Given the description of an element on the screen output the (x, y) to click on. 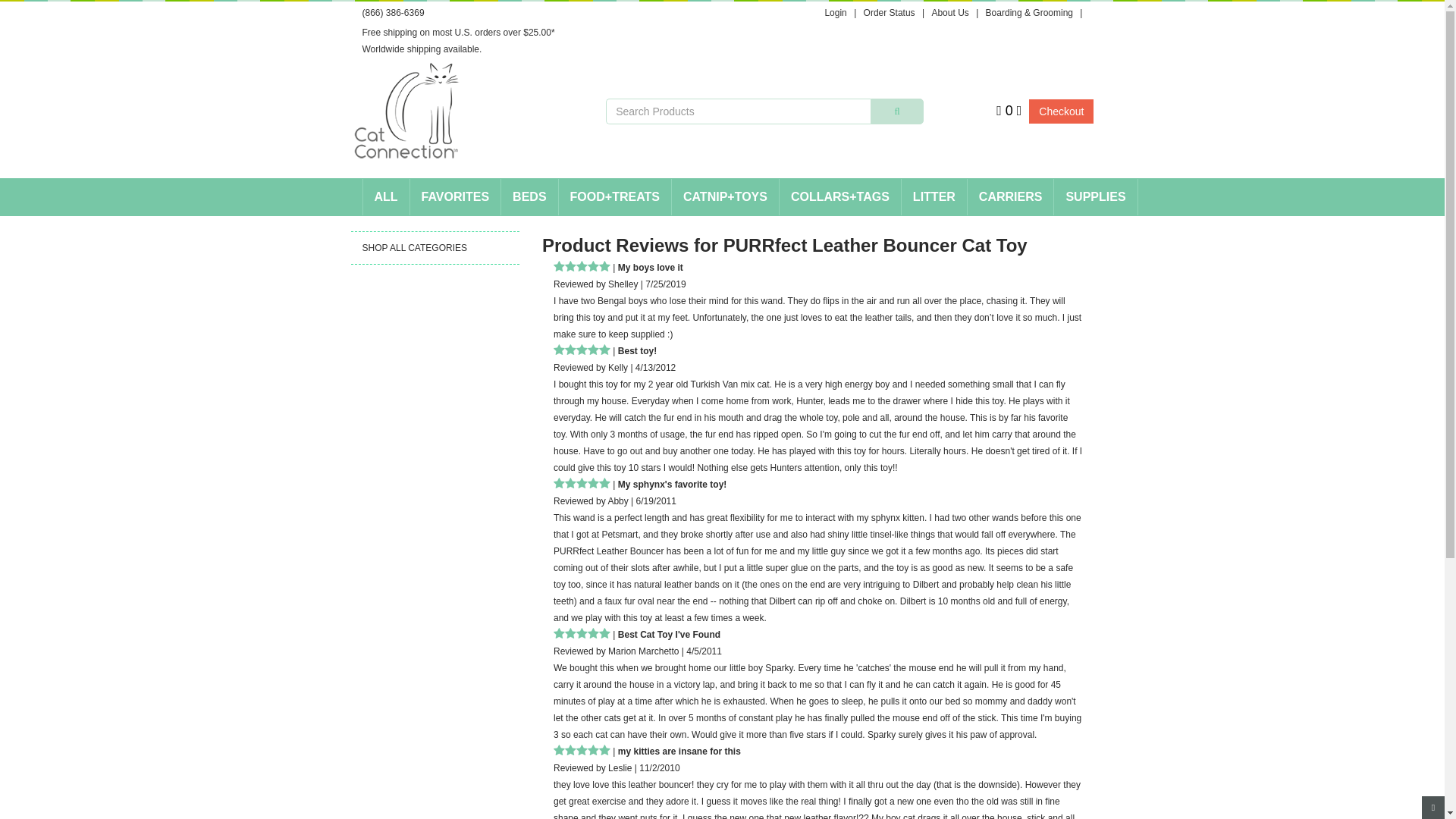
FAVORITES (455, 197)
BEDS (528, 197)
Order Status (889, 12)
SUPPLIES (1095, 197)
ALL (385, 197)
CARRIERS (1011, 197)
Login (834, 12)
Checkout (1061, 111)
About Us (949, 12)
0 (1008, 110)
